Given the description of an element on the screen output the (x, y) to click on. 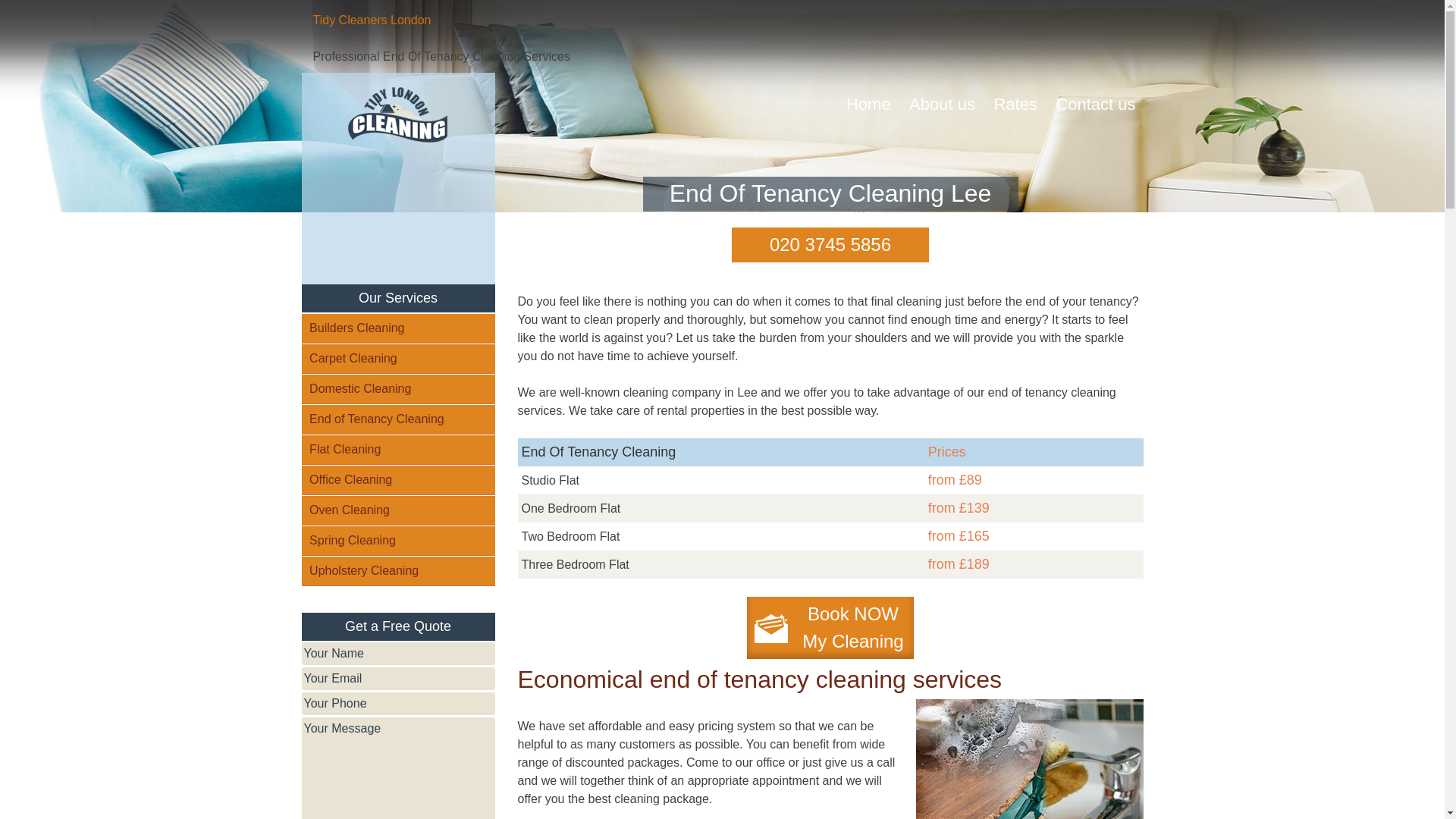
Oven Cleaning (398, 510)
Spring Cleaning (398, 541)
Rates (1014, 104)
Upholstery Cleaning (398, 571)
Tidy Cleaners London (371, 19)
About us (941, 104)
Office Cleaning (398, 480)
Domestic Cleaning (830, 628)
Flat Cleaning (398, 389)
Contact us (398, 449)
Home (1095, 104)
Builders Cleaning (868, 104)
End of Tenancy Cleaning (398, 328)
Carpet Cleaning (398, 419)
